Given the description of an element on the screen output the (x, y) to click on. 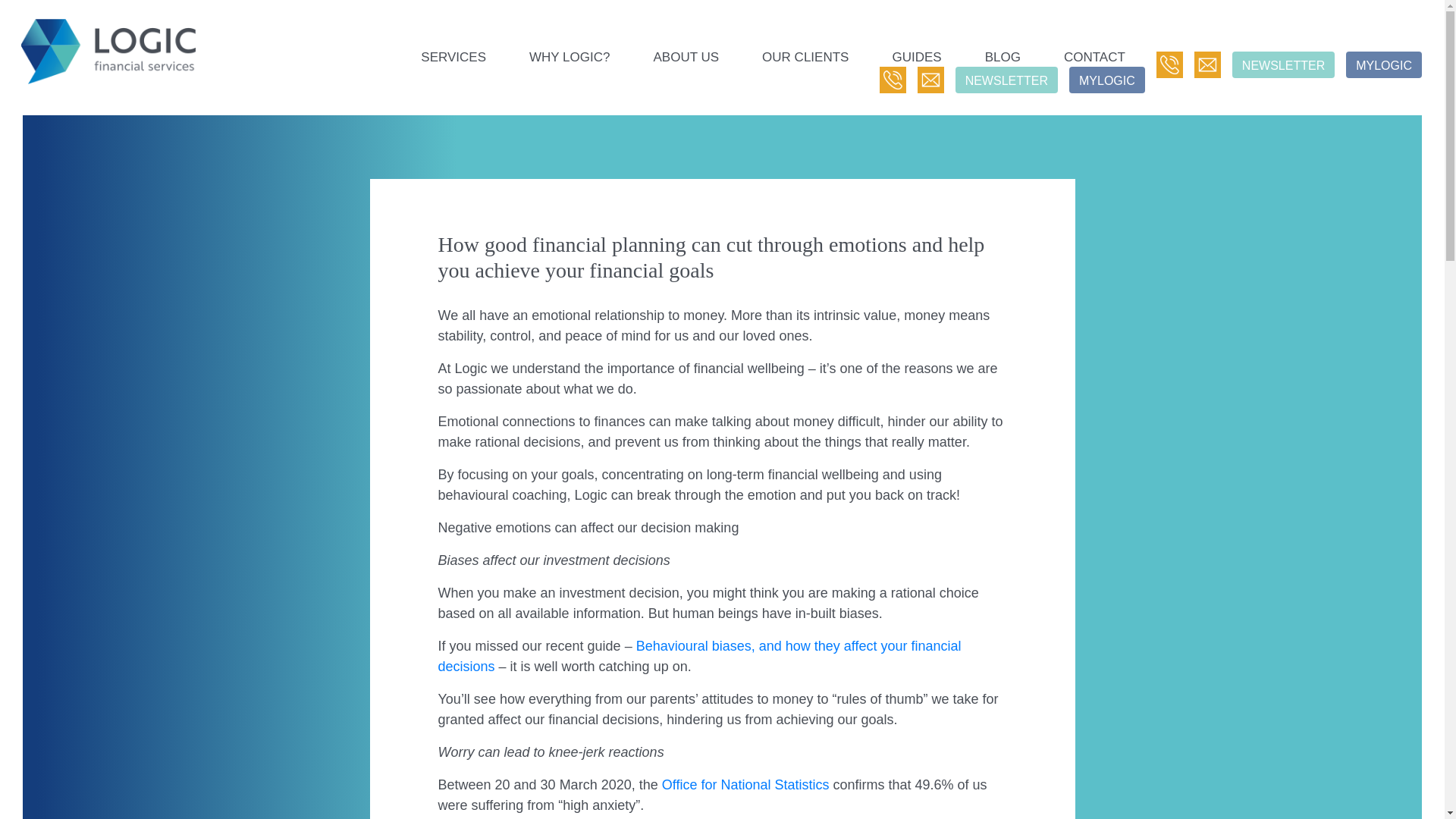
NEWSLETTER (1006, 79)
MYLOGIC (1106, 79)
ABOUT US (686, 56)
OUR CLIENTS (804, 56)
CONTACT (1093, 56)
GUIDES (916, 56)
MYLOGIC (1383, 64)
SERVICES (453, 56)
BLOG (1003, 56)
